Given the description of an element on the screen output the (x, y) to click on. 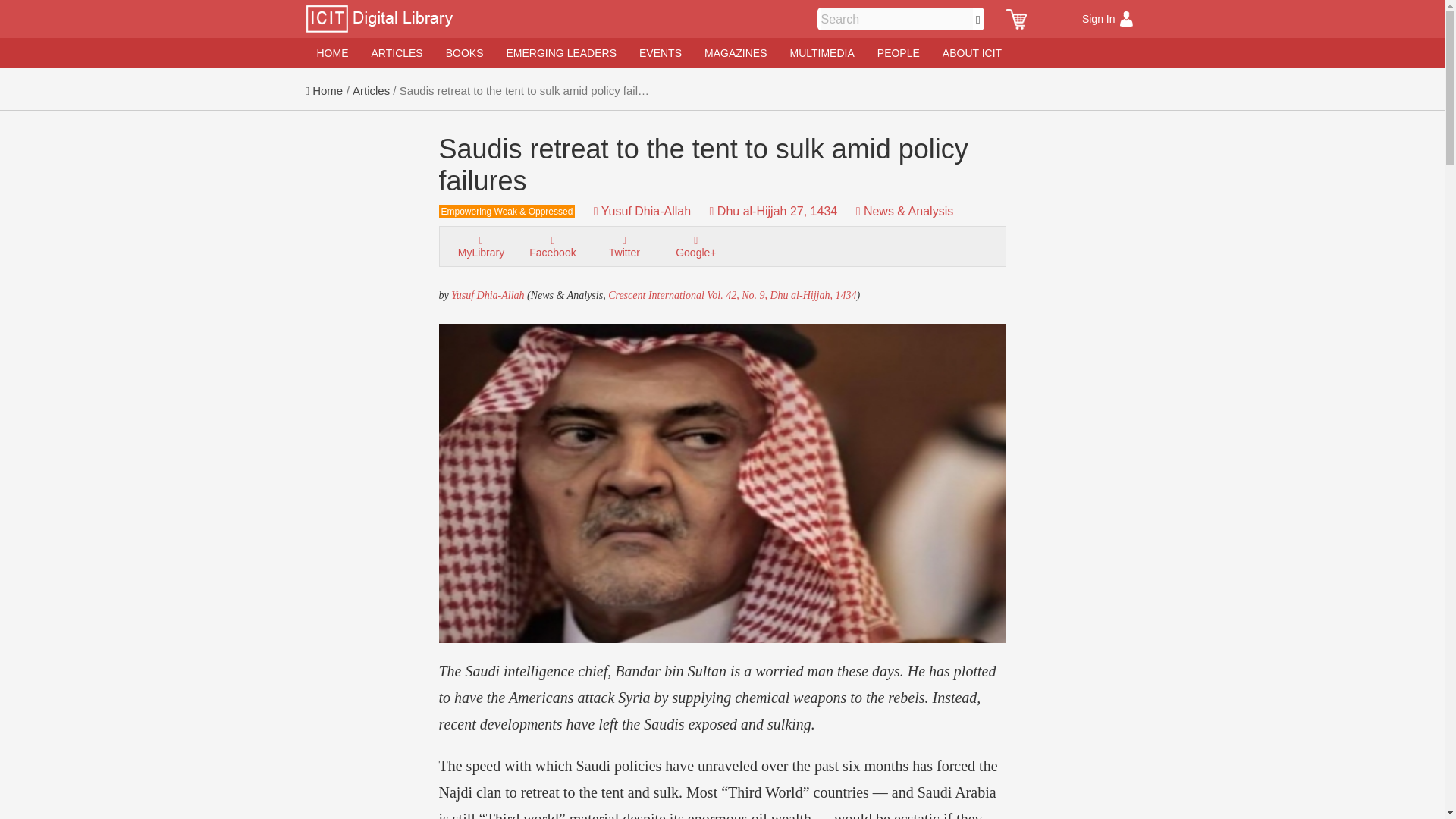
Yusuf Dhia-Allah (487, 295)
ARTICLES (396, 52)
Crescent International Vol. 42, No. 9, Dhu al-Hijjah, 1434 (732, 295)
Home (323, 90)
BOOKS (464, 52)
MAGAZINES (735, 52)
EMERGING LEADERS (561, 52)
Share on Facebook (552, 246)
Add to MyLibrary (481, 246)
Twitter (623, 245)
HOME (331, 52)
Facebook (552, 245)
Articles (371, 90)
Yusuf Dhia-Allah (645, 210)
Share on Twitter (623, 246)
